Given the description of an element on the screen output the (x, y) to click on. 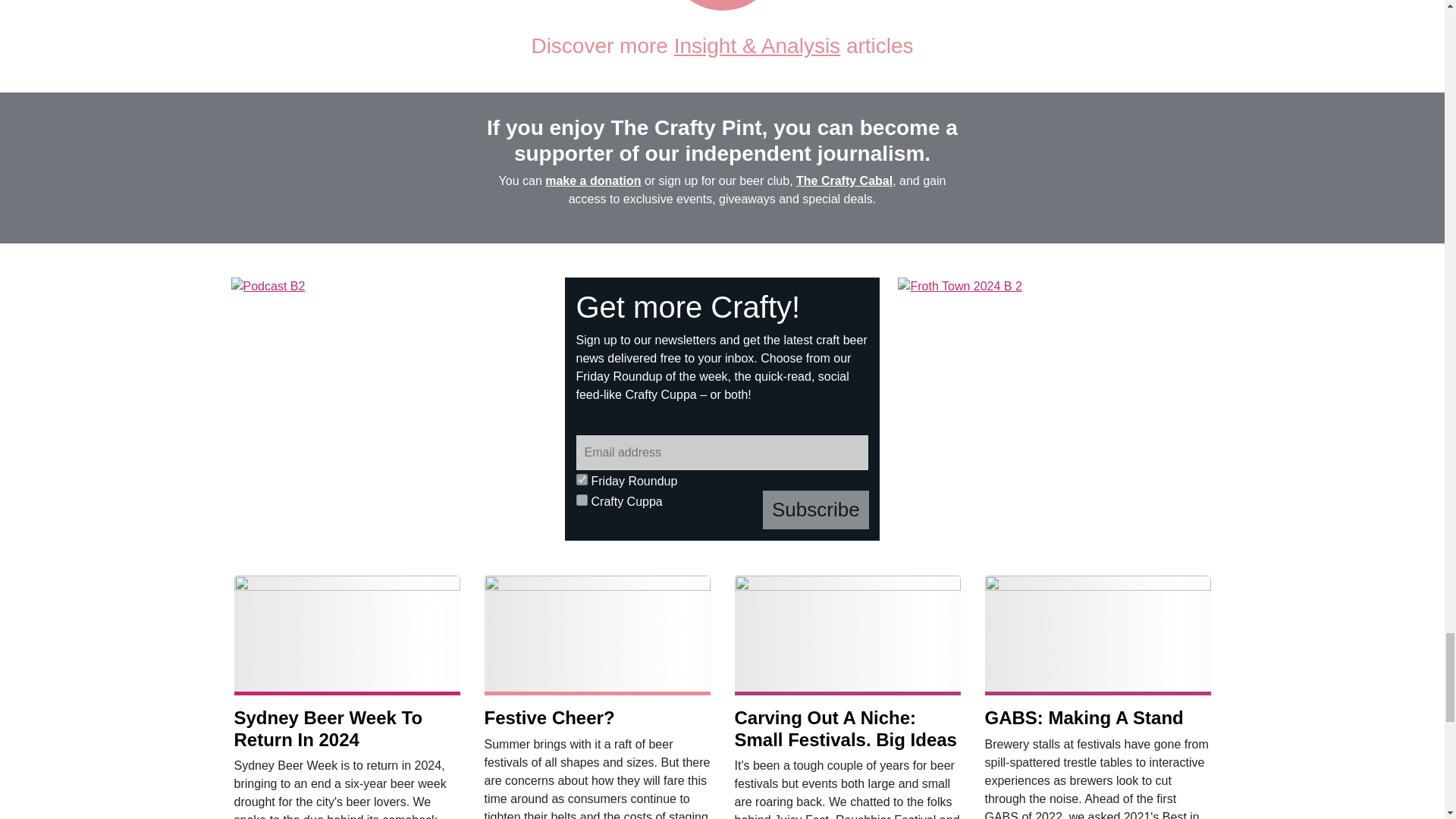
Podcast B2 (389, 408)
Subscribe (815, 509)
Froth Town 2024 B 2 (1055, 408)
friday (582, 479)
cuppa (582, 500)
